Given the description of an element on the screen output the (x, y) to click on. 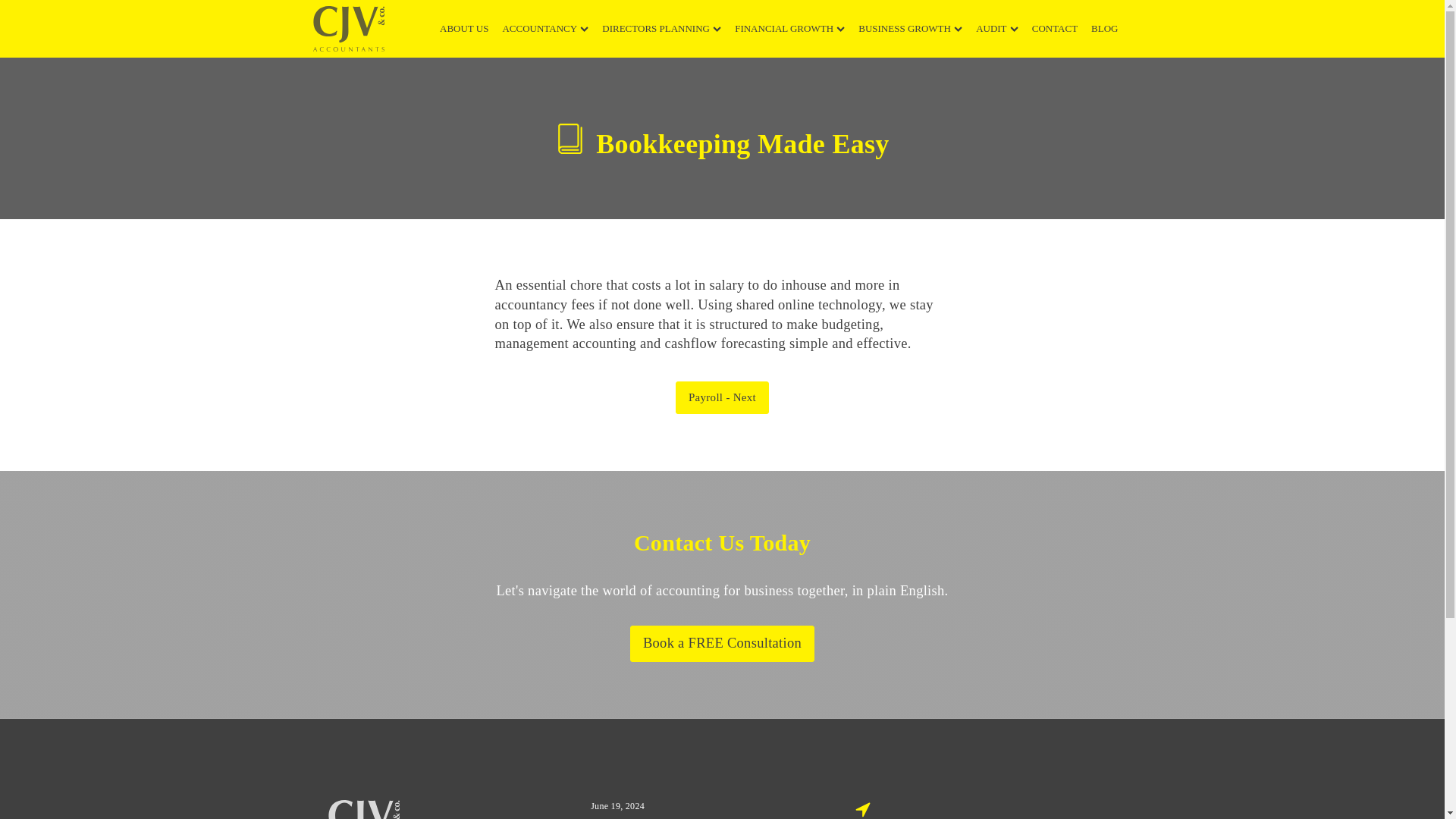
ACCOUNTANCY (552, 29)
CASHFLOW (781, 175)
OBJECTIVES (672, 115)
Payroll - Next (721, 397)
PROFITS (782, 180)
BUSINESS GROWTH (917, 29)
BOOKKEEPING MADE EASY (598, 152)
TRACKING (779, 155)
ANNUAL ACCOUNTS (600, 159)
AUDIT (1003, 29)
EXPERT BUSINESS ADVICE (950, 155)
REVIEWING (778, 147)
SECRETARIAL (592, 132)
CONTACT (1061, 29)
SPECIALIST (1027, 101)
